Given the description of an element on the screen output the (x, y) to click on. 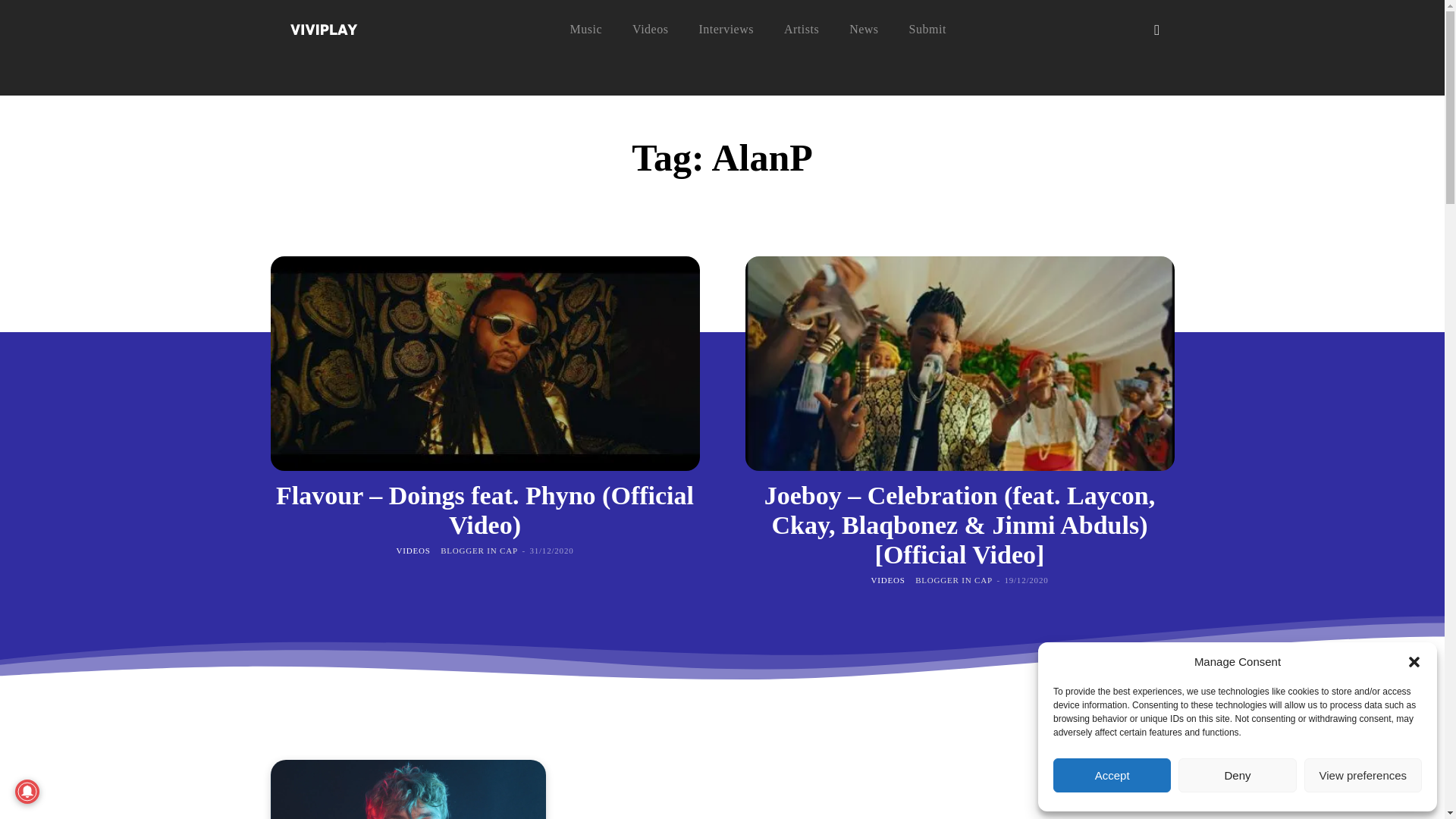
VIDEOS (412, 550)
Interviews (726, 29)
Deny (1236, 775)
Accept (1111, 775)
View preferences (1363, 775)
